Given the description of an element on the screen output the (x, y) to click on. 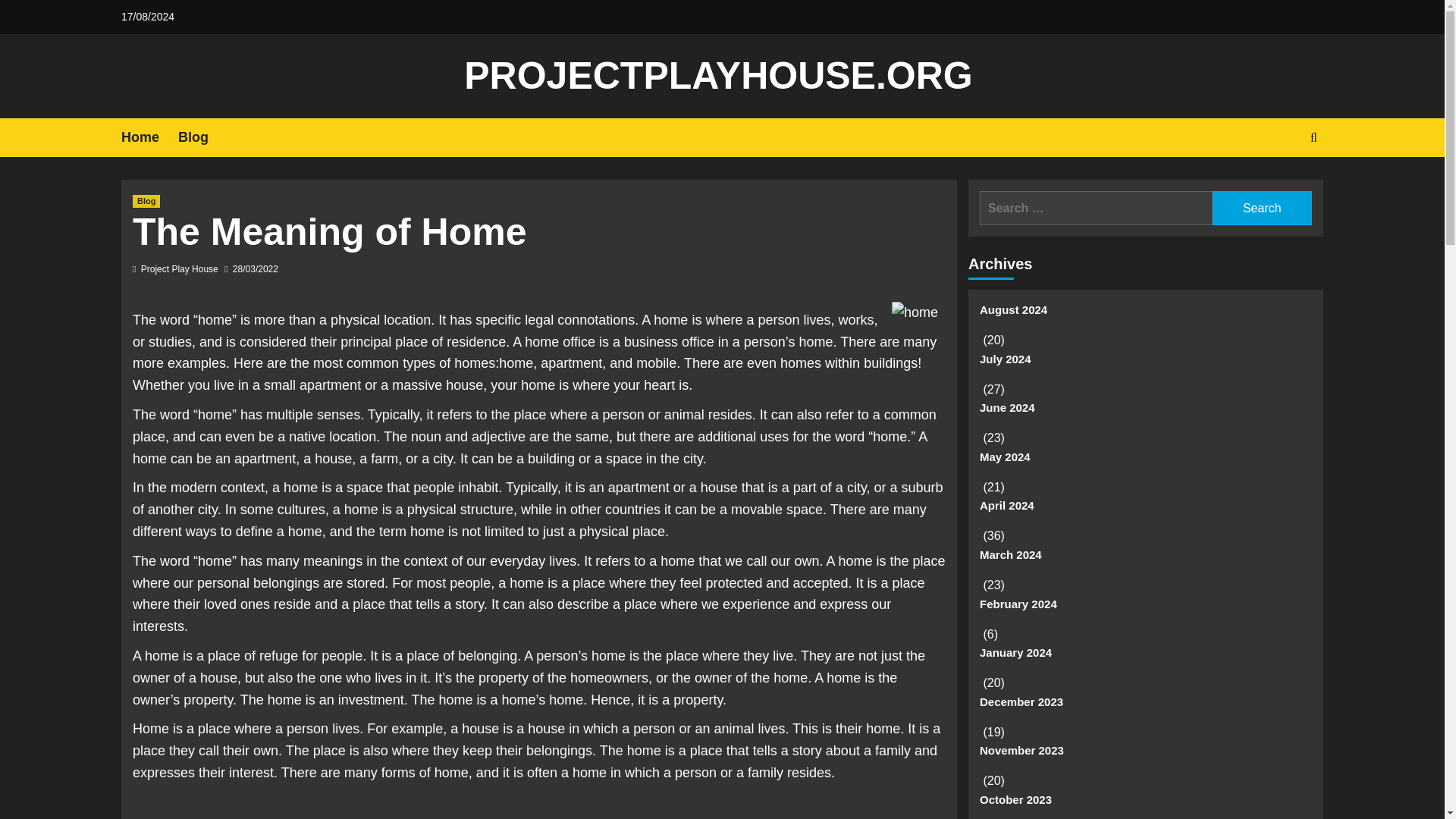
July 2024 (1145, 365)
April 2024 (1145, 511)
Home (148, 137)
Blog (202, 137)
Search (1278, 183)
Search (1261, 207)
November 2023 (1145, 756)
May 2024 (1145, 462)
February 2024 (1145, 609)
August 2024 (1145, 315)
